Given the description of an element on the screen output the (x, y) to click on. 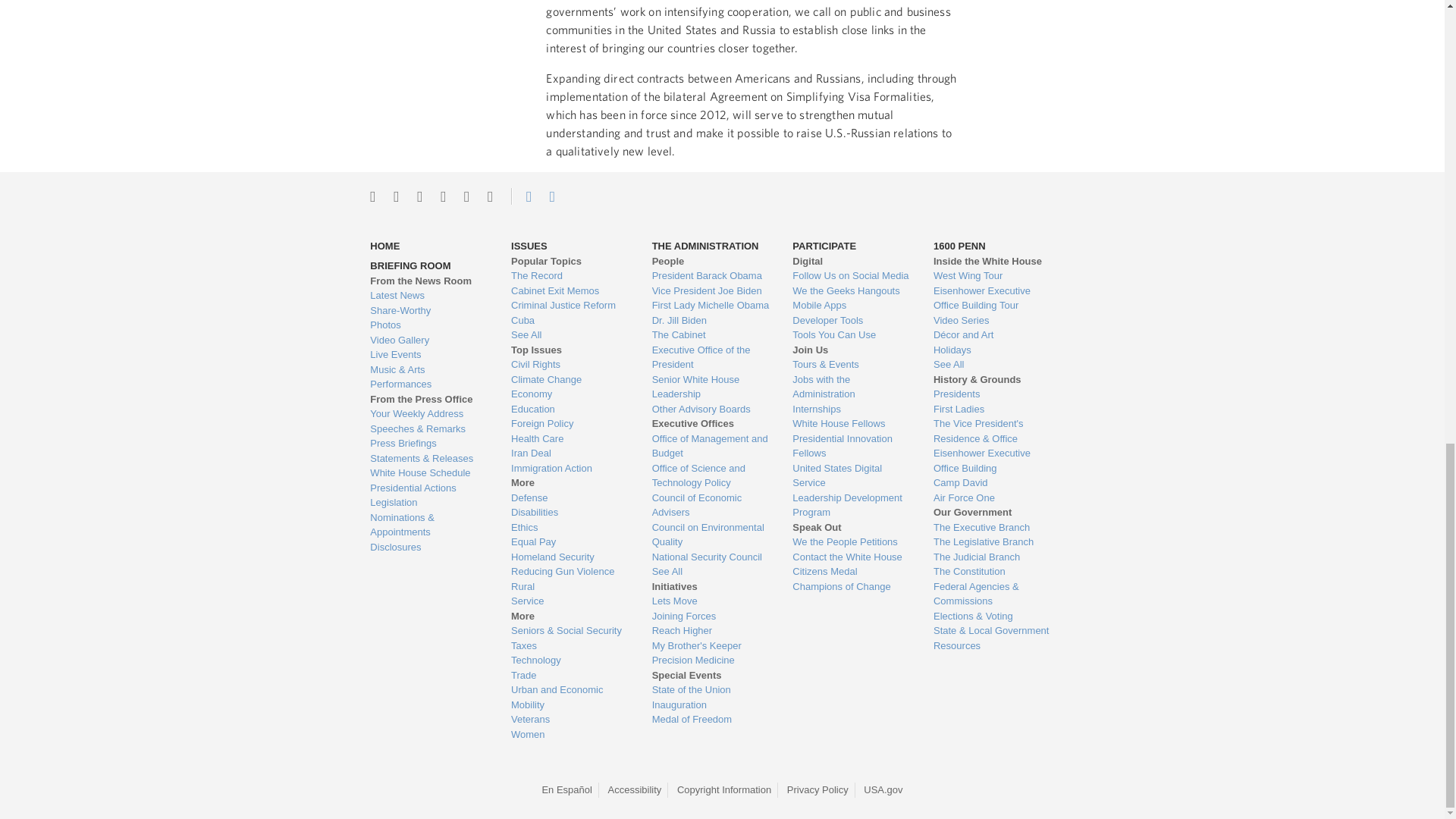
Read the latest blog posts from 1600 Pennsylvania Ave (428, 295)
Check out the most popular infographics and videos (428, 310)
View the photo of the day and other galleries (428, 324)
Contact the Whitehouse. (521, 196)
Watch behind-the-scenes videos and more (428, 340)
